Given the description of an element on the screen output the (x, y) to click on. 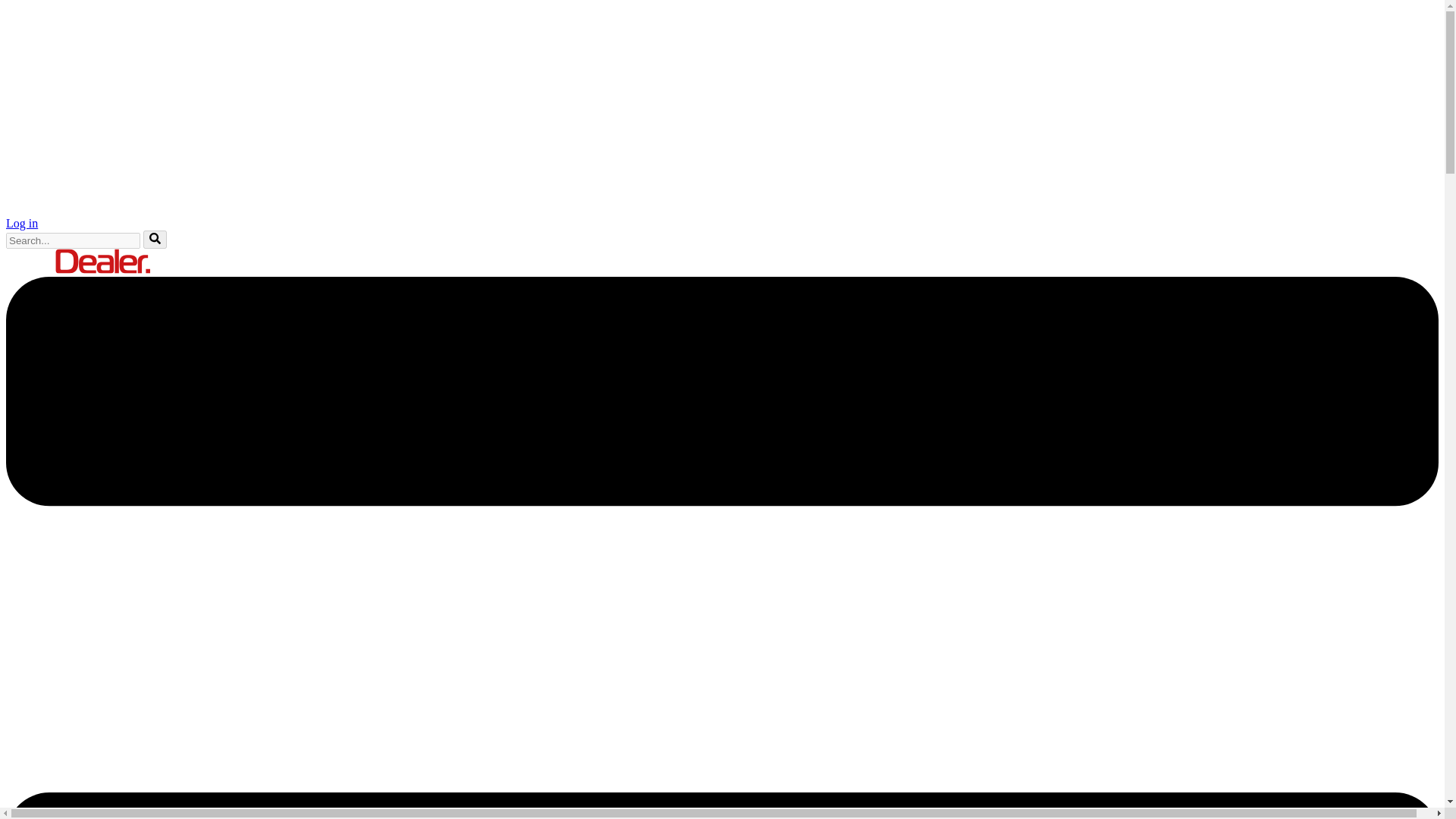
Log in (21, 223)
